Given the description of an element on the screen output the (x, y) to click on. 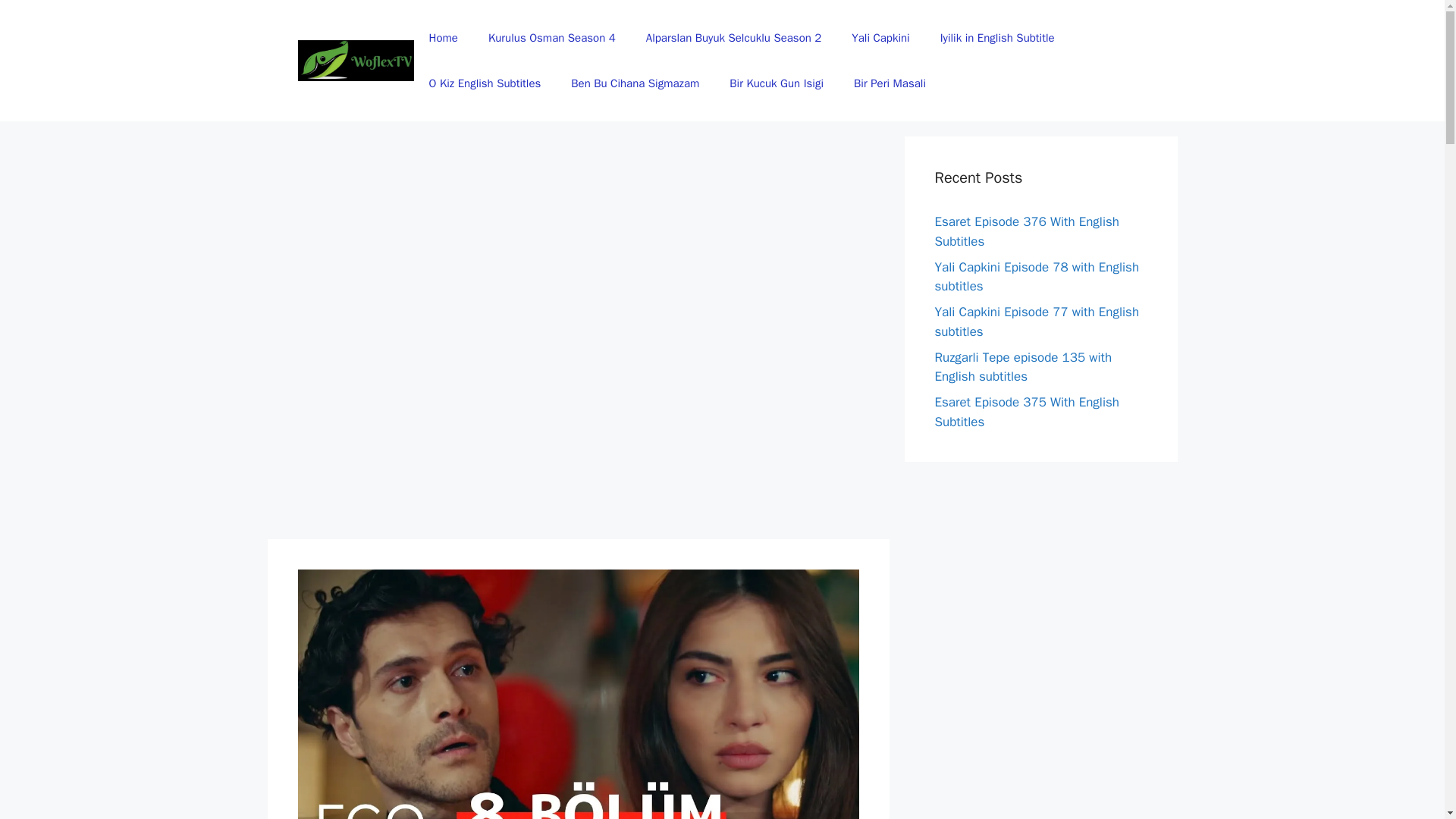
Yali Capkini Episode 78 with English subtitles (1036, 276)
Advertisement (380, 230)
Esaret Episode 375 With English Subtitles (1026, 411)
Bir Peri Masali (889, 83)
Alparslan Buyuk Selcuklu Season 2 (733, 37)
Iyilik in English Subtitle (997, 37)
Ruzgarli Tepe episode 135 with English subtitles (1023, 366)
Yali Capkini (879, 37)
Esaret Episode 376 With English Subtitles (1026, 231)
Ben Bu Cihana Sigmazam (635, 83)
Bir Kucuk Gun Isigi (776, 83)
Advertisement (380, 432)
Kurulus Osman Season 4 (551, 37)
Home (443, 37)
O Kiz English Subtitles (484, 83)
